Given the description of an element on the screen output the (x, y) to click on. 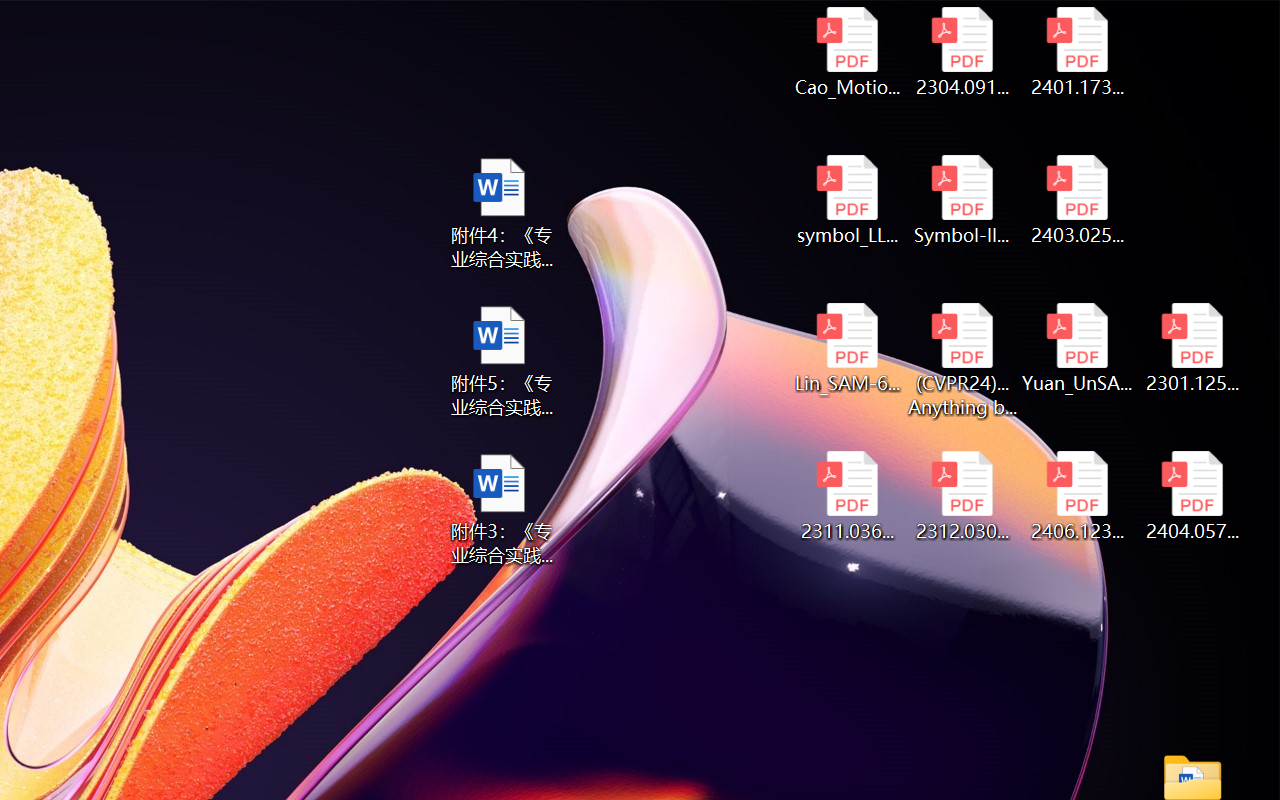
(CVPR24)Matching Anything by Segmenting Anything.pdf (962, 360)
2403.02502v1.pdf (1077, 200)
symbol_LLM.pdf (846, 200)
2404.05719v1.pdf (1192, 496)
2406.12373v2.pdf (1077, 496)
2401.17399v1.pdf (1077, 52)
2311.03658v2.pdf (846, 496)
2301.12597v3.pdf (1192, 348)
2312.03032v2.pdf (962, 496)
